Given the description of an element on the screen output the (x, y) to click on. 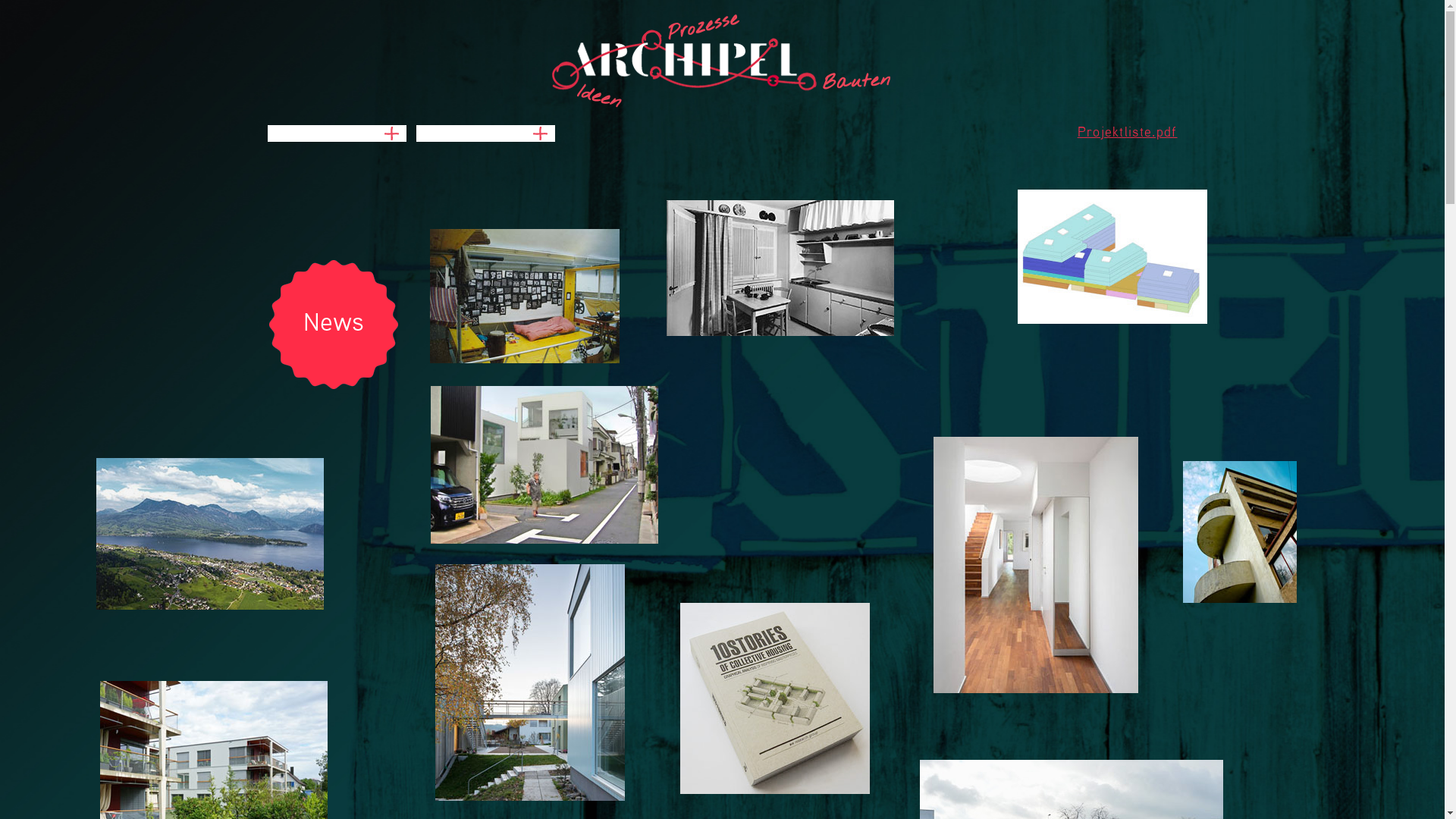
Projektliste.pdf Element type: text (1127, 132)
